Given the description of an element on the screen output the (x, y) to click on. 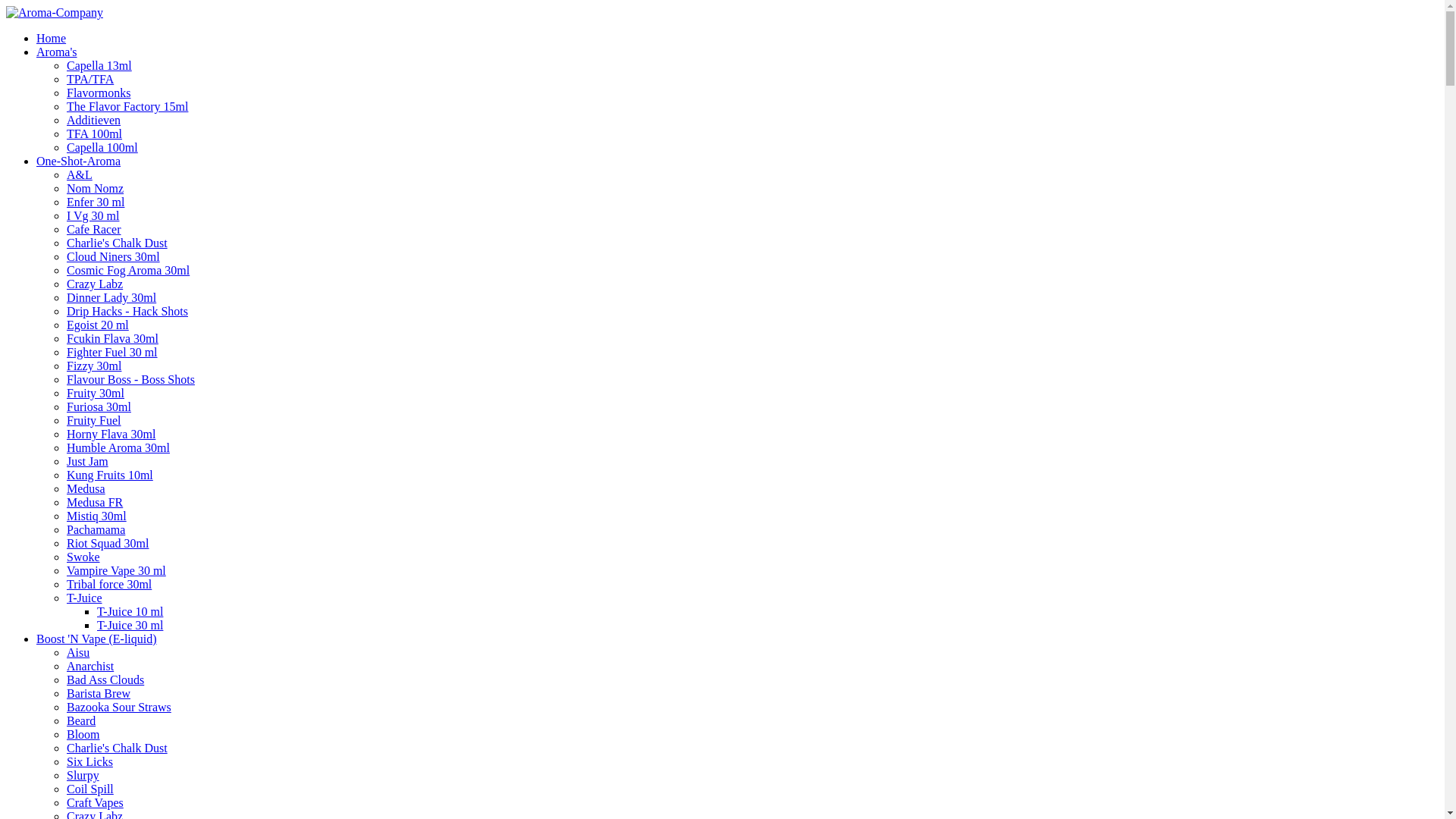
Anarchist Element type: text (89, 665)
Mistiq 30ml Element type: text (96, 515)
Dinner Lady 30ml Element type: text (111, 297)
Six Licks Element type: text (89, 761)
Swoke Element type: text (83, 556)
Flavormonks Element type: text (98, 92)
T-Juice Element type: text (84, 597)
Fruity Fuel Element type: text (93, 420)
Vampire Vape 30 ml Element type: text (116, 570)
Bloom Element type: text (83, 734)
Bazooka Sour Straws Element type: text (118, 706)
Bad Ass Clouds Element type: text (105, 679)
Crazy Labz Element type: text (94, 283)
Craft Vapes Element type: text (94, 802)
TPA/TFA Element type: text (89, 78)
Furiosa 30ml Element type: text (98, 406)
Tribal force 30ml Element type: text (108, 583)
Boost 'N Vape (E-liquid) Element type: text (96, 638)
Riot Squad 30ml Element type: text (107, 542)
Charlie's Chalk Dust Element type: text (116, 747)
Egoist 20 ml Element type: text (97, 324)
One-Shot-Aroma Element type: text (78, 160)
TFA 100ml Element type: text (94, 133)
Kung Fruits 10ml Element type: text (109, 474)
Just Jam Element type: text (87, 461)
Charlie's Chalk Dust Element type: text (116, 242)
Additieven Element type: text (93, 119)
Fighter Fuel 30 ml Element type: text (111, 351)
I Vg 30 ml Element type: text (92, 215)
Medusa FR Element type: text (94, 501)
Beard Element type: text (80, 720)
Fizzy 30ml Element type: text (93, 365)
A&L Element type: text (79, 174)
Enfer 30 ml Element type: text (95, 201)
Horny Flava 30ml Element type: text (110, 433)
The Flavor Factory 15ml Element type: text (127, 106)
Drip Hacks - Hack Shots Element type: text (127, 310)
Home Element type: text (50, 37)
Fcukin Flava 30ml Element type: text (112, 338)
T-Juice 30 ml Element type: text (130, 624)
Medusa Element type: text (85, 488)
Fruity 30ml Element type: text (95, 392)
Flavour Boss - Boss Shots Element type: text (130, 379)
Capella 13ml Element type: text (98, 65)
Aisu Element type: text (77, 652)
Slurpy Element type: text (82, 774)
Cloud Niners 30ml Element type: text (113, 256)
Cosmic Fog Aroma 30ml Element type: text (127, 269)
Cafe Racer Element type: text (93, 228)
Barista Brew Element type: text (98, 693)
Humble Aroma 30ml Element type: text (117, 447)
T-Juice 10 ml Element type: text (130, 611)
Coil Spill Element type: text (89, 788)
Capella 100ml Element type: text (102, 147)
Pachamama Element type: text (95, 529)
Aroma's Element type: text (56, 51)
Nom Nomz Element type: text (94, 188)
